Given the description of an element on the screen output the (x, y) to click on. 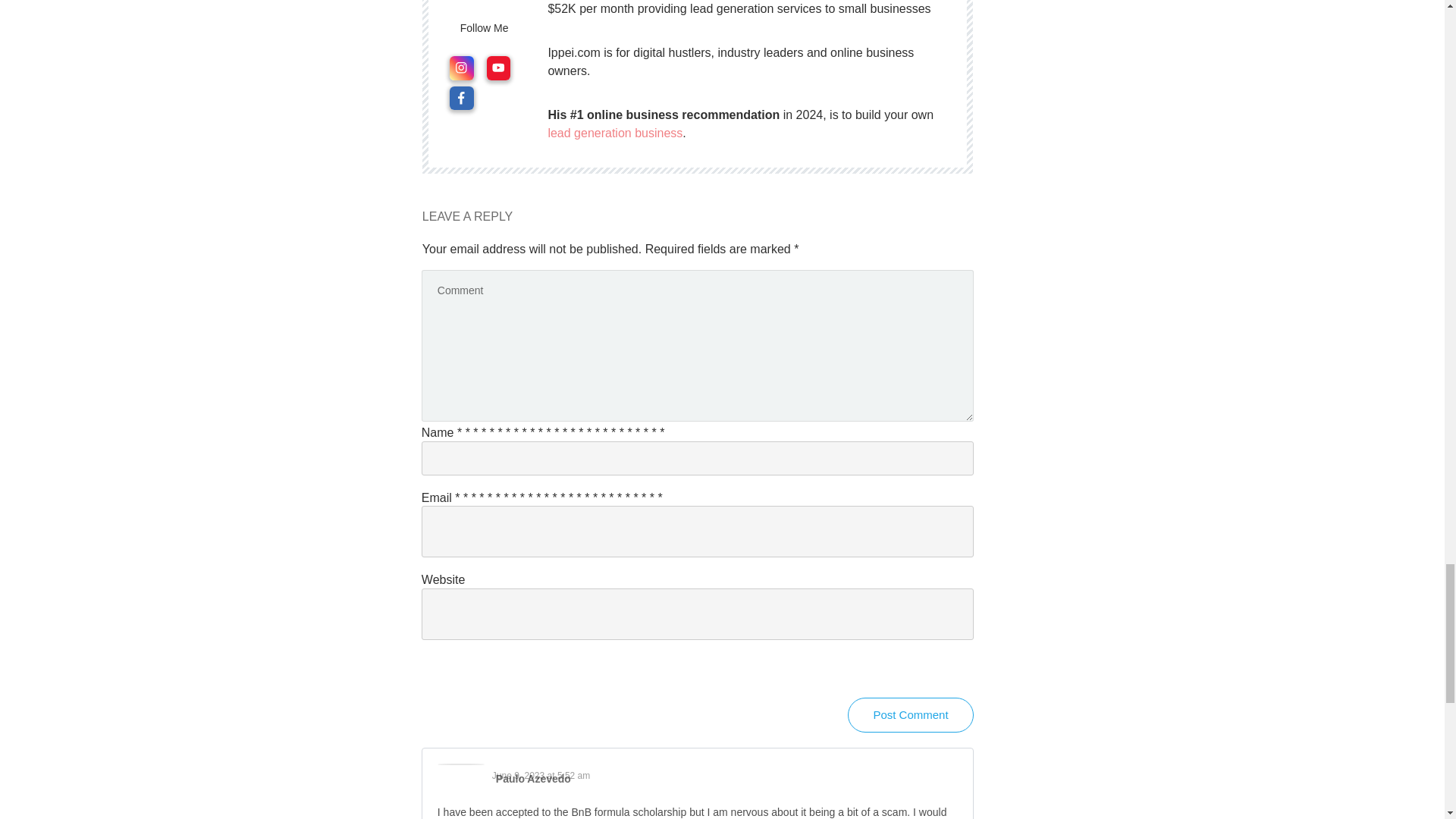
Post Comment (909, 714)
ippei-kanehara-cropped (484, 4)
lead generation business (614, 132)
June 9, 2023 at 5:52 am (540, 775)
